Given the description of an element on the screen output the (x, y) to click on. 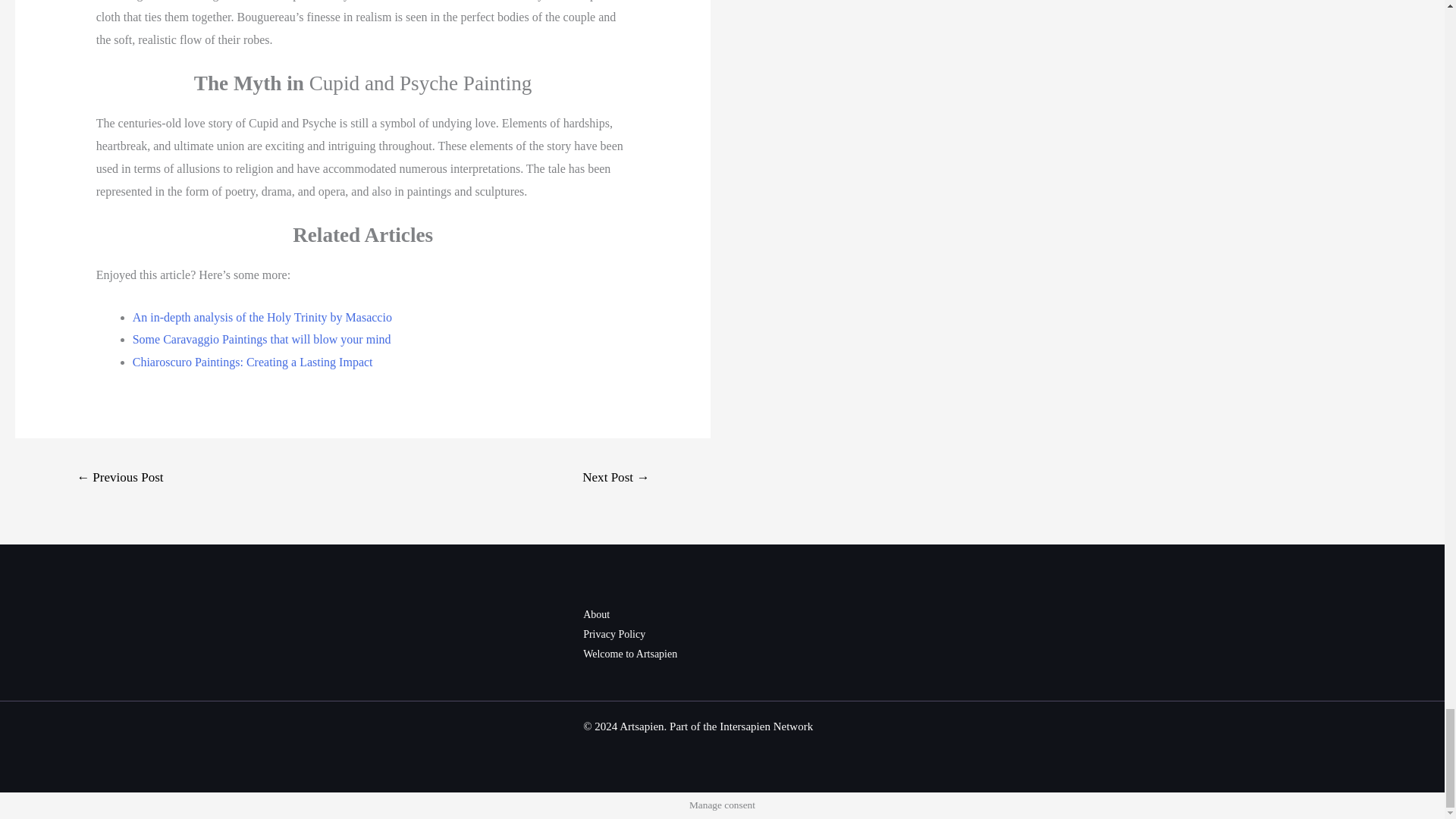
Chiaroscuro Paintings: Creating a Lasting Impact (252, 361)
Privacy Policy (614, 633)
Some Caravaggio Paintings that will blow your mind (261, 338)
An in-depth analysis of the Holy Trinity by Masaccio (261, 317)
Welcome to Artsapien (630, 654)
About (596, 614)
